Given the description of an element on the screen output the (x, y) to click on. 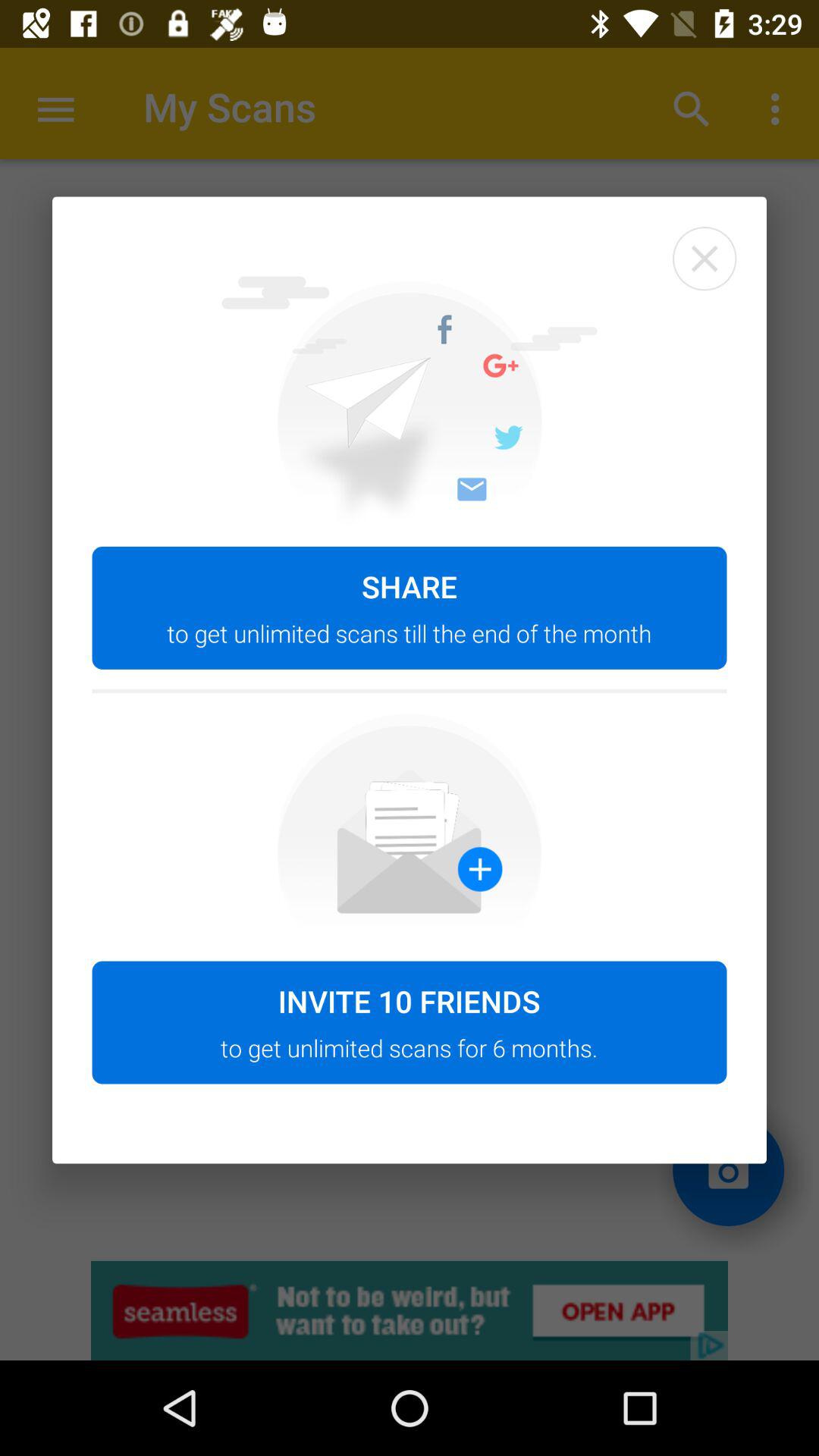
launch the item at the top right corner (704, 258)
